Given the description of an element on the screen output the (x, y) to click on. 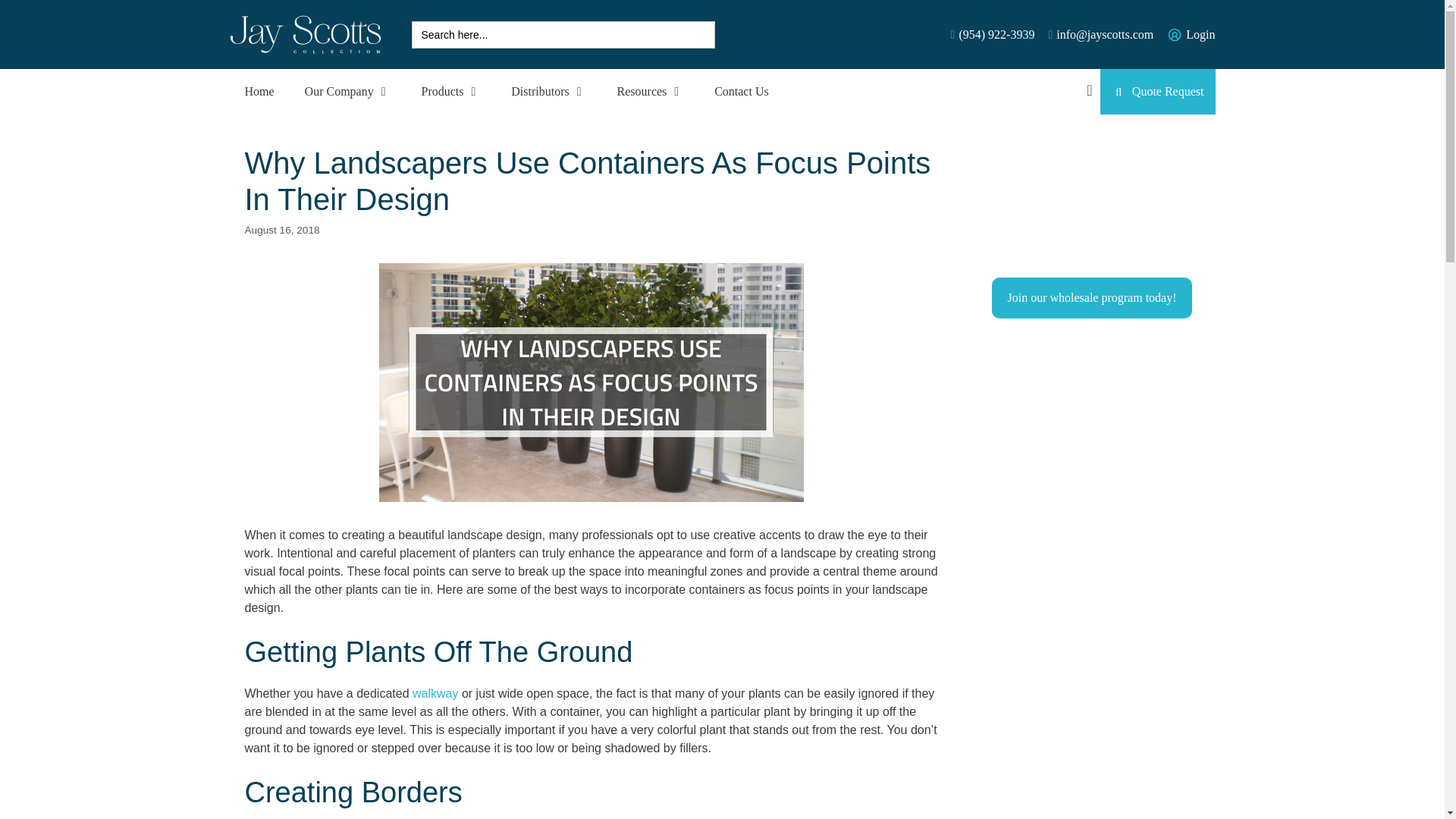
View your shopping cart (1088, 91)
Login (1200, 34)
